Given the description of an element on the screen output the (x, y) to click on. 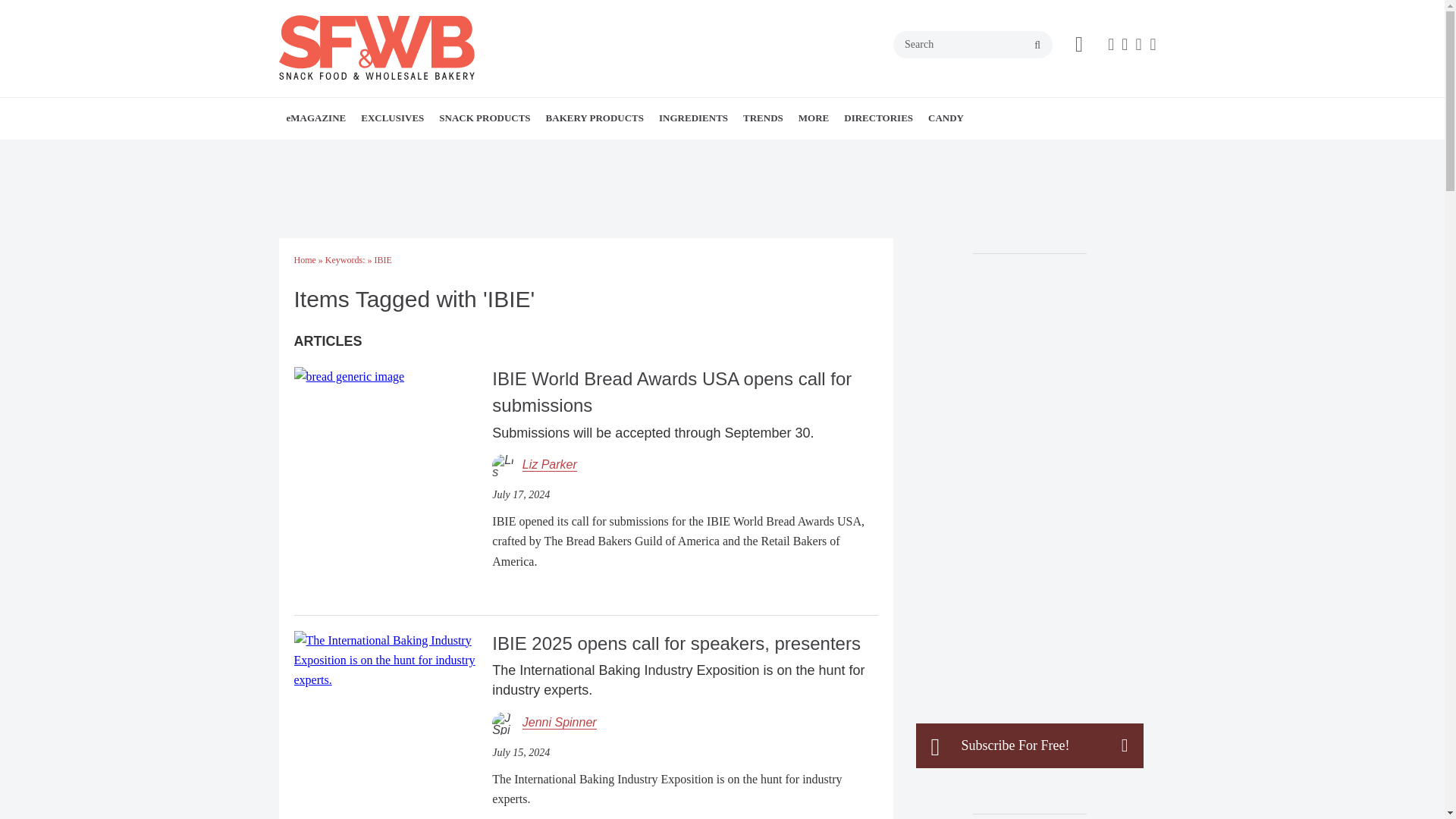
IBIE World Bread Awards USA opens call for submissions (349, 375)
SNACK PRODUCTS (483, 117)
SNACK PRODUCER OF THE YEAR (467, 151)
CRACKERS (539, 151)
eMAGAZINE (316, 117)
CONTACT (391, 151)
STATE OF THE INDUSTRY (455, 151)
Search (972, 44)
CHIPS (533, 151)
ARCHIVE ISSUES (380, 151)
